Given the description of an element on the screen output the (x, y) to click on. 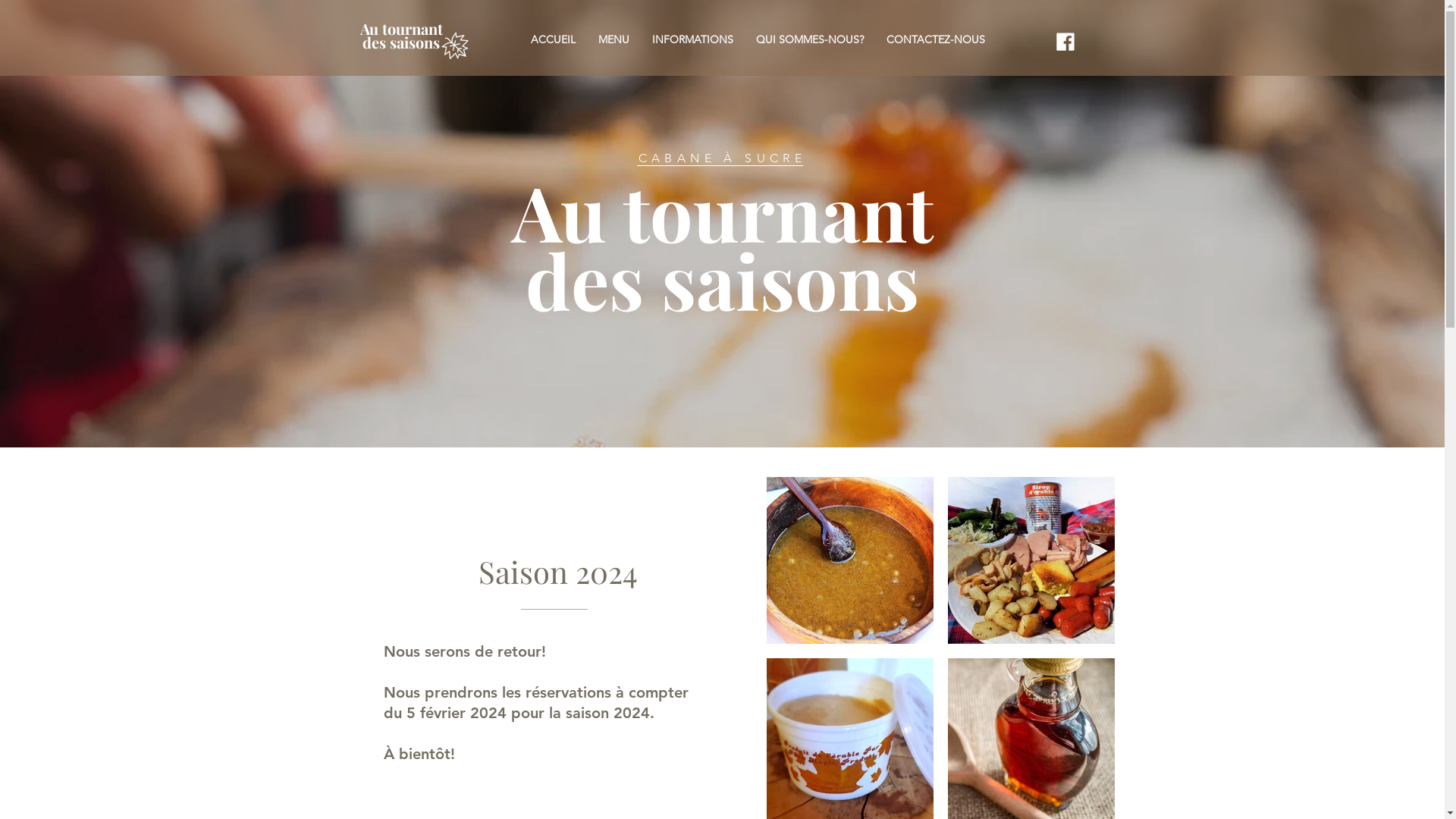
INFORMATIONS Element type: text (691, 39)
White%20on%20Transparent_edited.png Element type: hover (453, 46)
CONTACTEZ-NOUS Element type: text (935, 39)
MENU Element type: text (613, 39)
QUI SOMMES-NOUS? Element type: text (809, 39)
ACCUEIL Element type: text (552, 39)
